Given the description of an element on the screen output the (x, y) to click on. 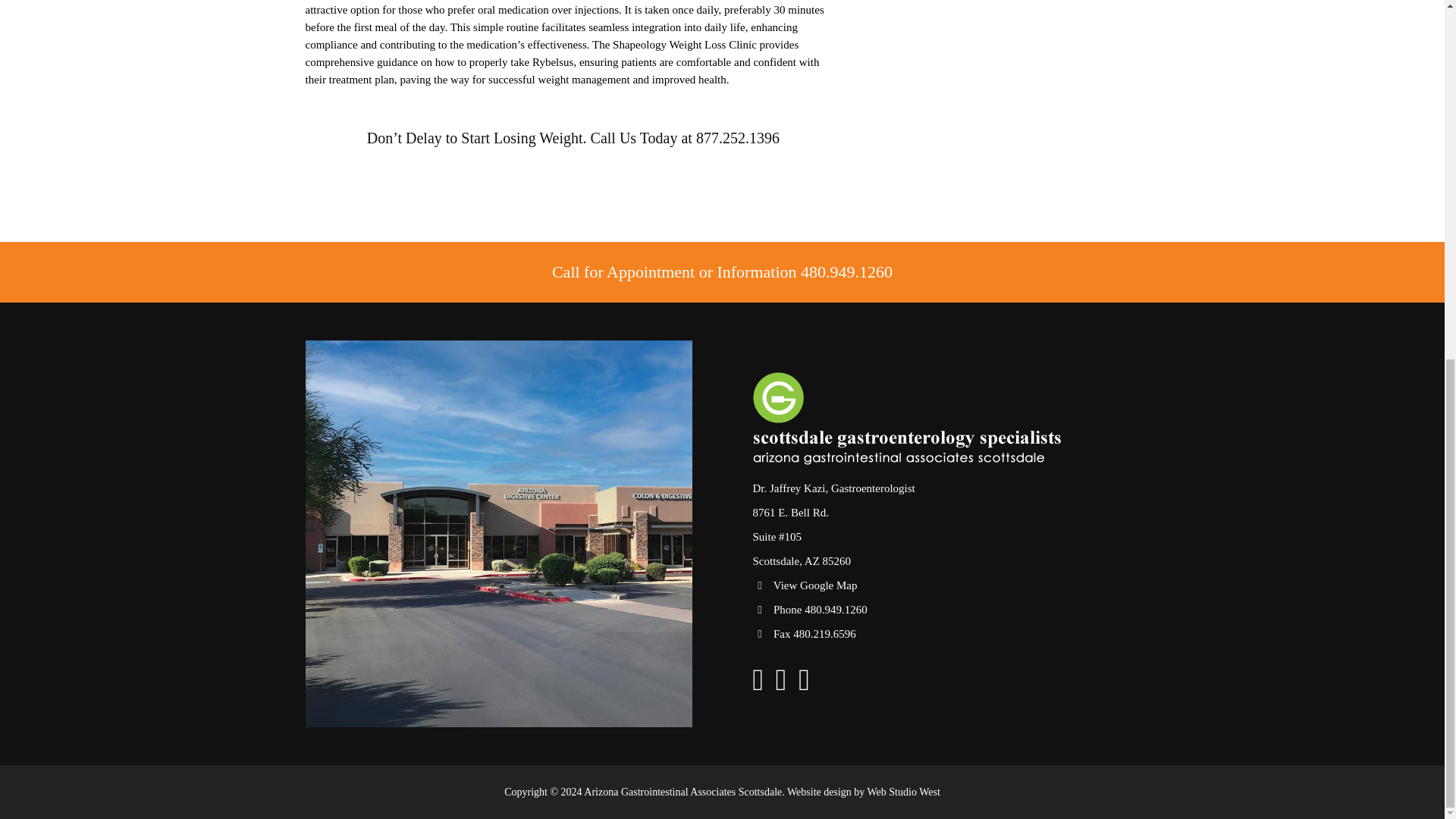
480.949.1260 (846, 271)
